Given the description of an element on the screen output the (x, y) to click on. 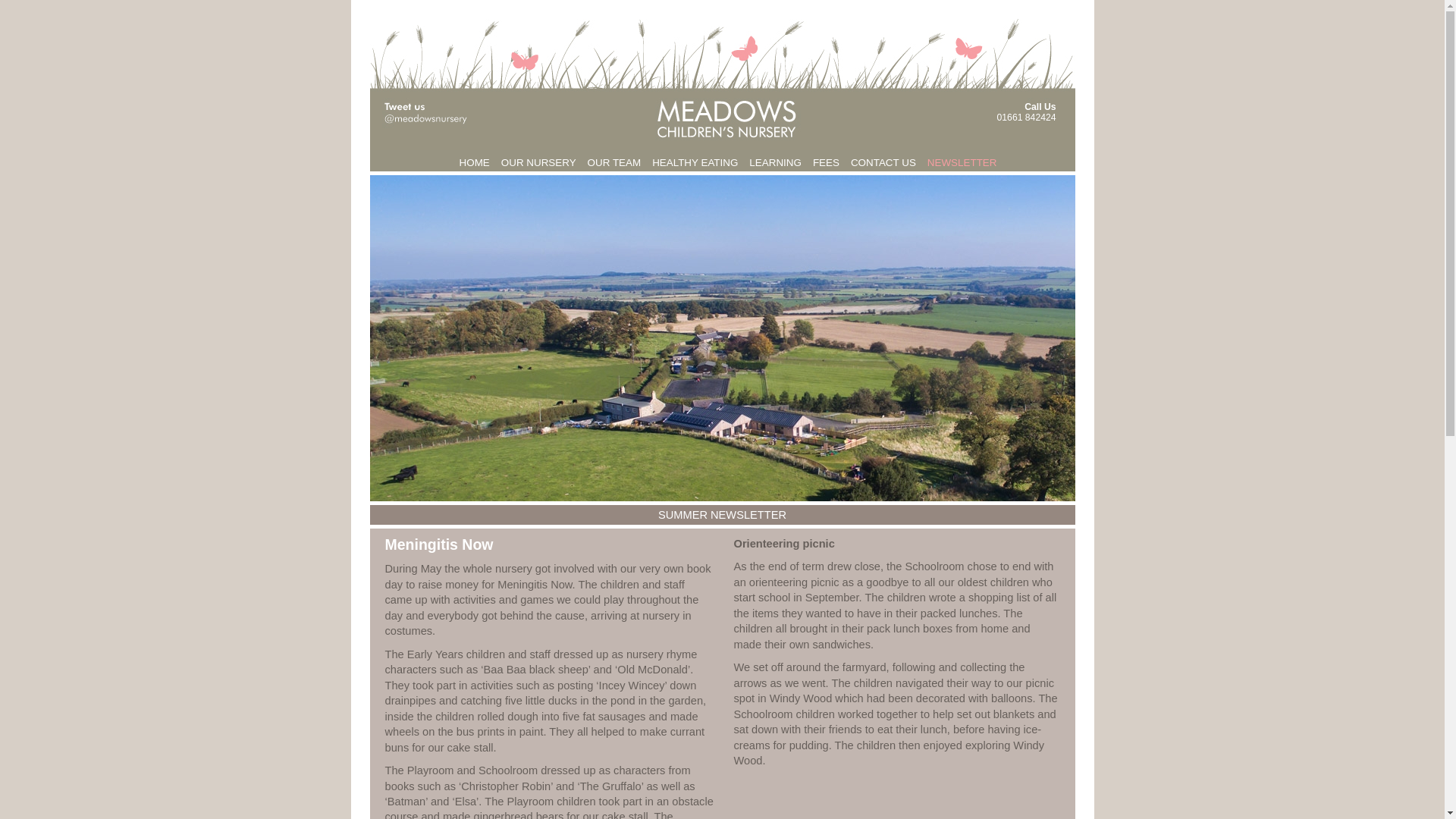
OUR NURSERY (538, 163)
OUR TEAM (615, 163)
CONTACT US (882, 163)
HOME (474, 163)
HEALTHY EATING (695, 163)
NEWSLETTER (962, 163)
LEARNING (775, 163)
FEES (826, 163)
